Given the description of an element on the screen output the (x, y) to click on. 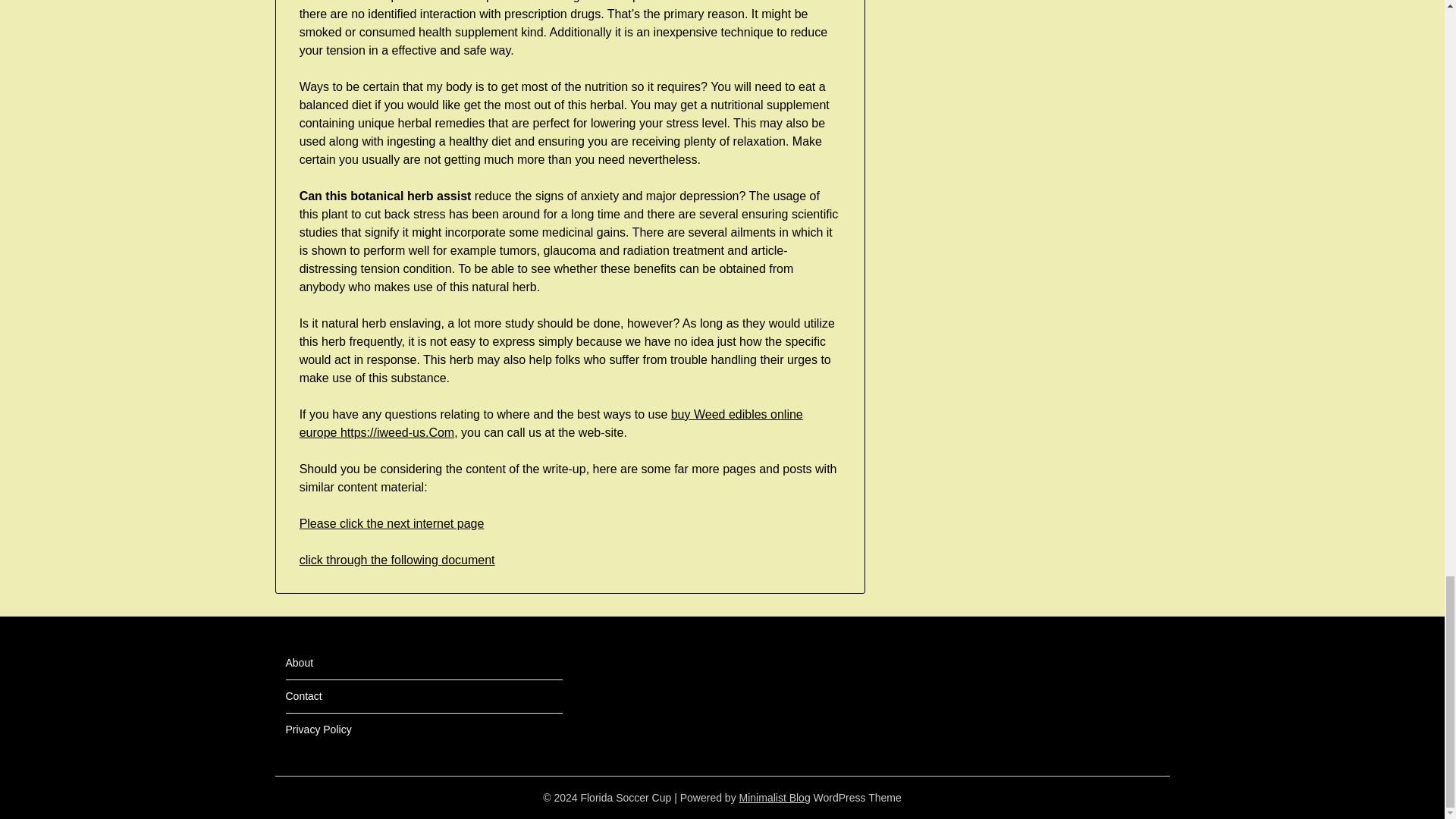
click through the following document (397, 559)
Please click the next internet page (391, 522)
About (299, 662)
Contact (303, 695)
Minimalist Blog (774, 797)
Privacy Policy (317, 729)
